Given the description of an element on the screen output the (x, y) to click on. 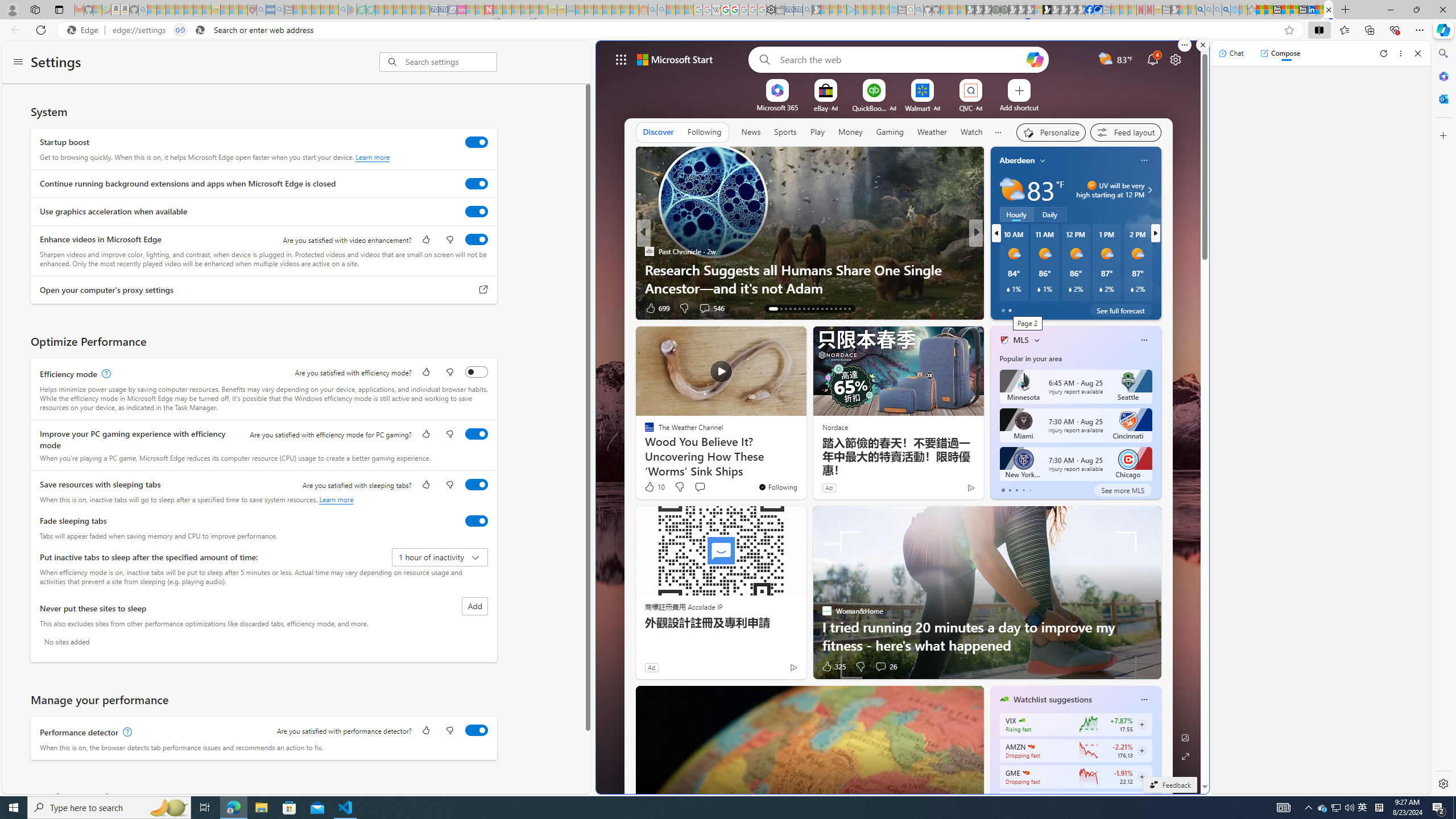
Hourly (1015, 214)
LinkedIn (1311, 9)
Weather (931, 131)
207 Like (1007, 307)
Jobs - lastminute.com Investor Portal - Sleeping (461, 9)
View comments 2 Comment (1051, 307)
MLS (1021, 339)
Privacy Help Center - Policies Help (725, 9)
Wallet - Sleeping (779, 9)
Latest Politics News & Archive | Newsweek.com - Sleeping (488, 9)
